Given the description of an element on the screen output the (x, y) to click on. 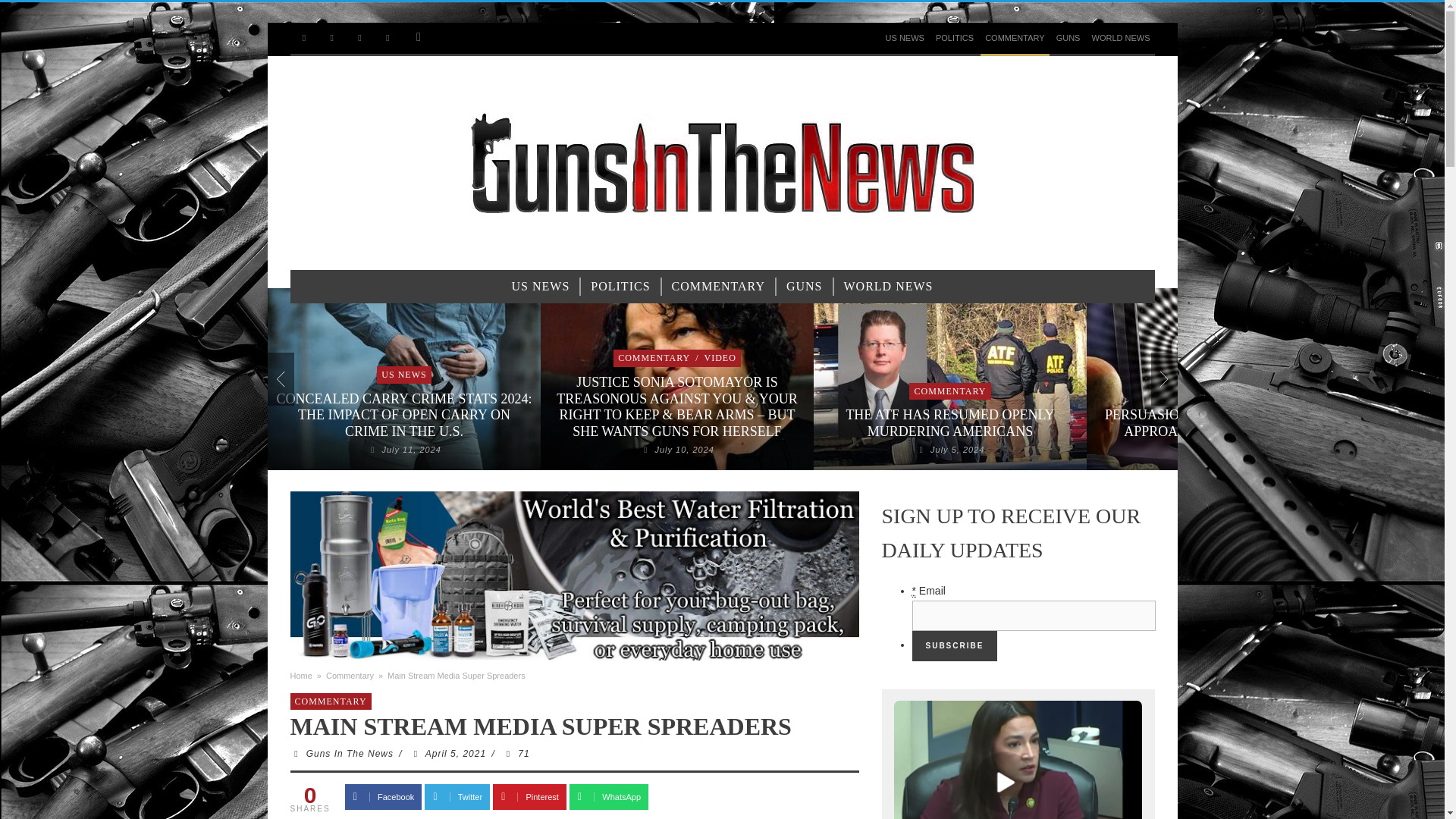
Permalink to The ATF Has Resumed Openly Murdering Americans (949, 422)
WORLD NEWS (1120, 38)
POLITICS (619, 286)
POLITICS (954, 38)
Twitter (360, 38)
COMMENTARY (1013, 38)
COMMENTARY (718, 286)
GUNS (804, 286)
US NEWS (904, 38)
WORLD NEWS (888, 286)
Facebook (303, 38)
GUNS (1067, 38)
RSS (331, 38)
US NEWS (540, 286)
